Given the description of an element on the screen output the (x, y) to click on. 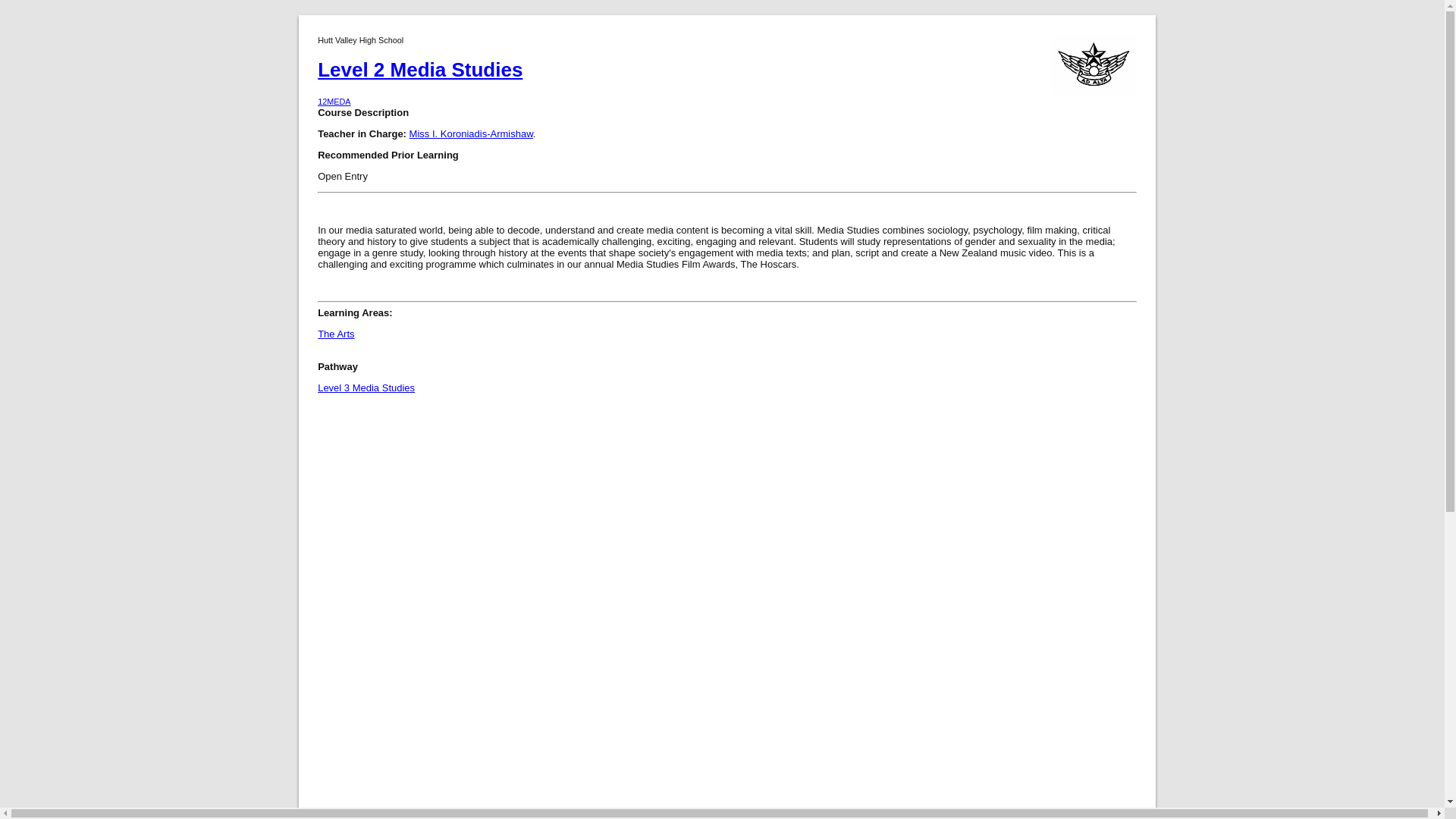
Miss I. Koroniadis-Armishaw (470, 133)
Level 3 Media Studies (365, 387)
The Arts (727, 94)
